Given the description of an element on the screen output the (x, y) to click on. 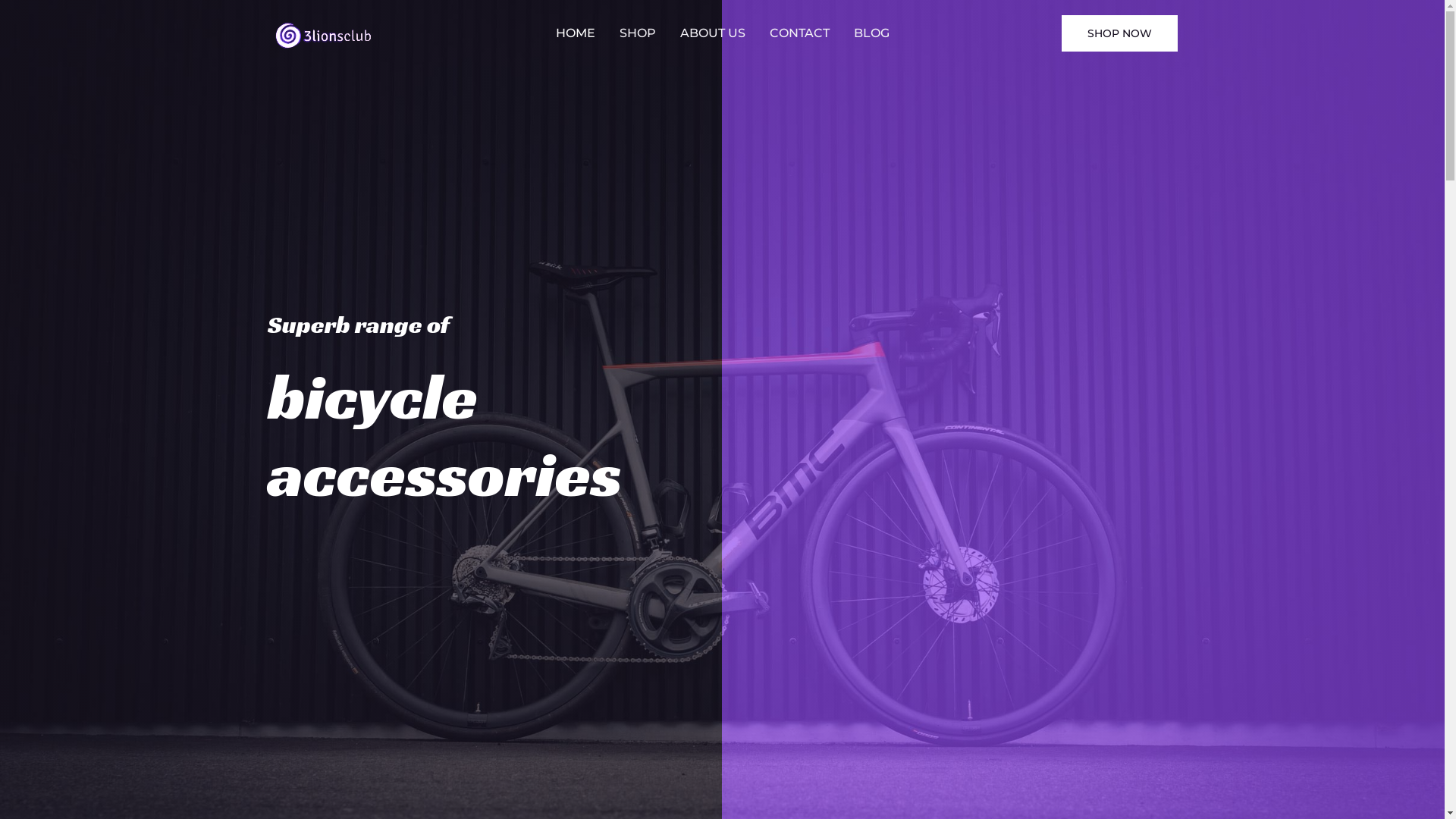
CONTACT Element type: text (798, 32)
HOME Element type: text (574, 32)
SHOP NOW Element type: text (1119, 33)
SHOP Element type: text (636, 32)
BLOG Element type: text (871, 32)
ABOUT US Element type: text (711, 32)
